Given the description of an element on the screen output the (x, y) to click on. 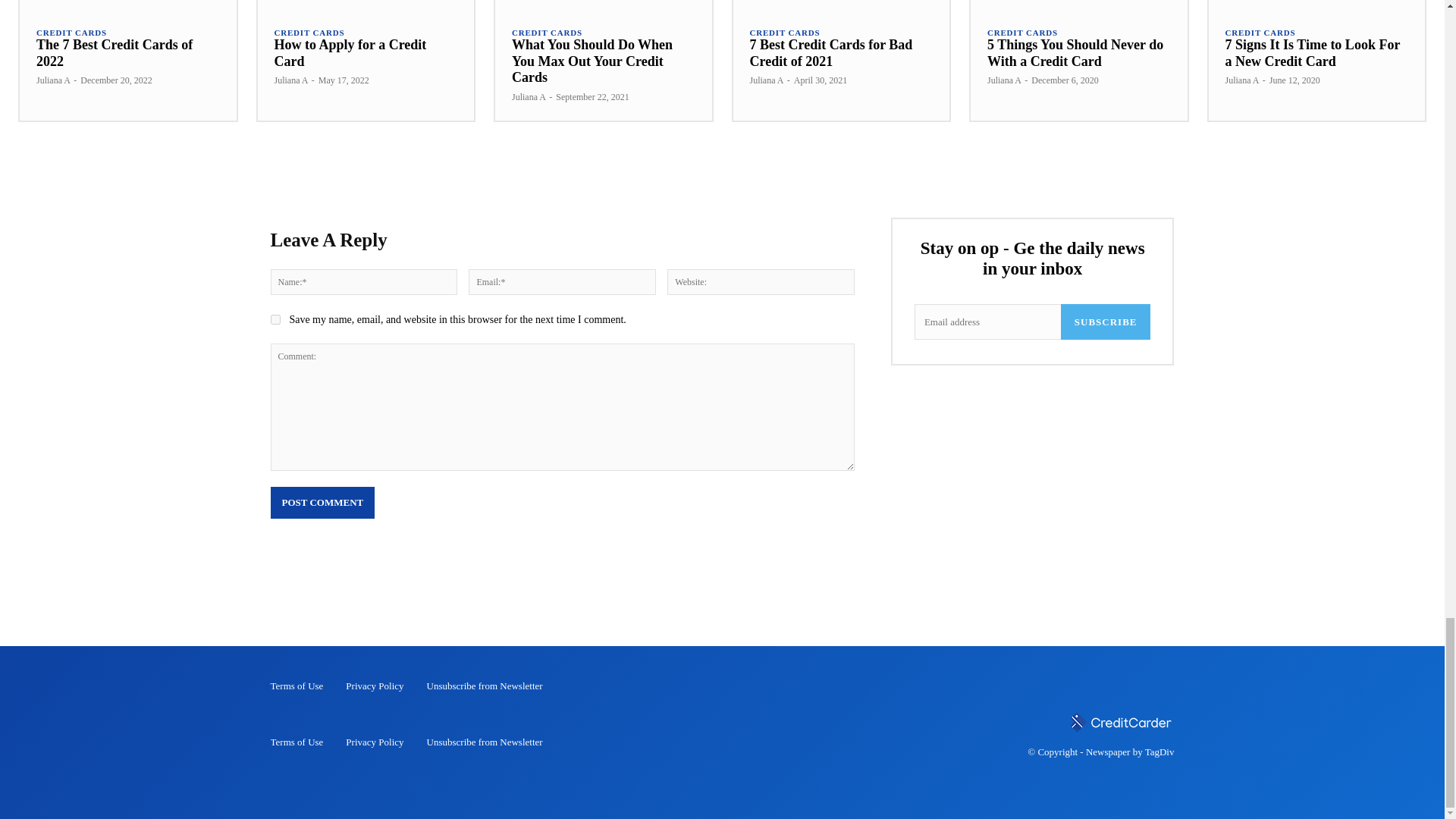
yes (274, 319)
Post Comment (321, 502)
